Given the description of an element on the screen output the (x, y) to click on. 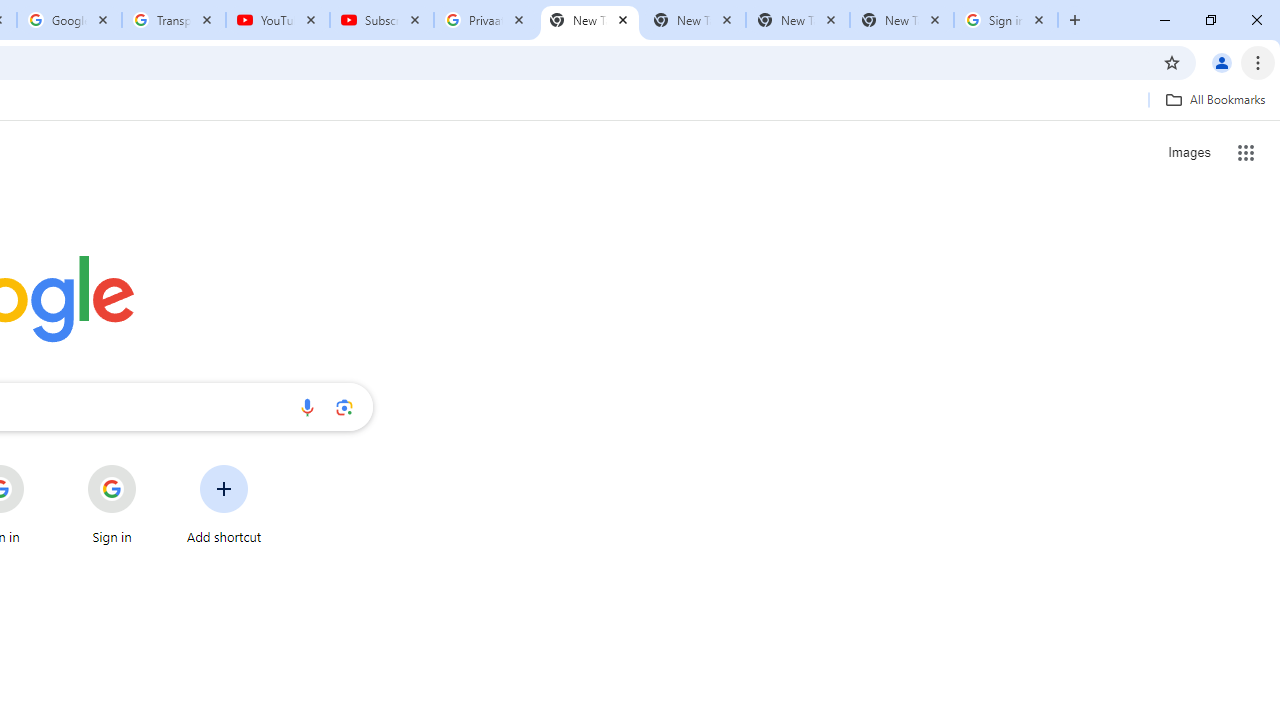
Google Account (68, 20)
